Given the description of an element on the screen output the (x, y) to click on. 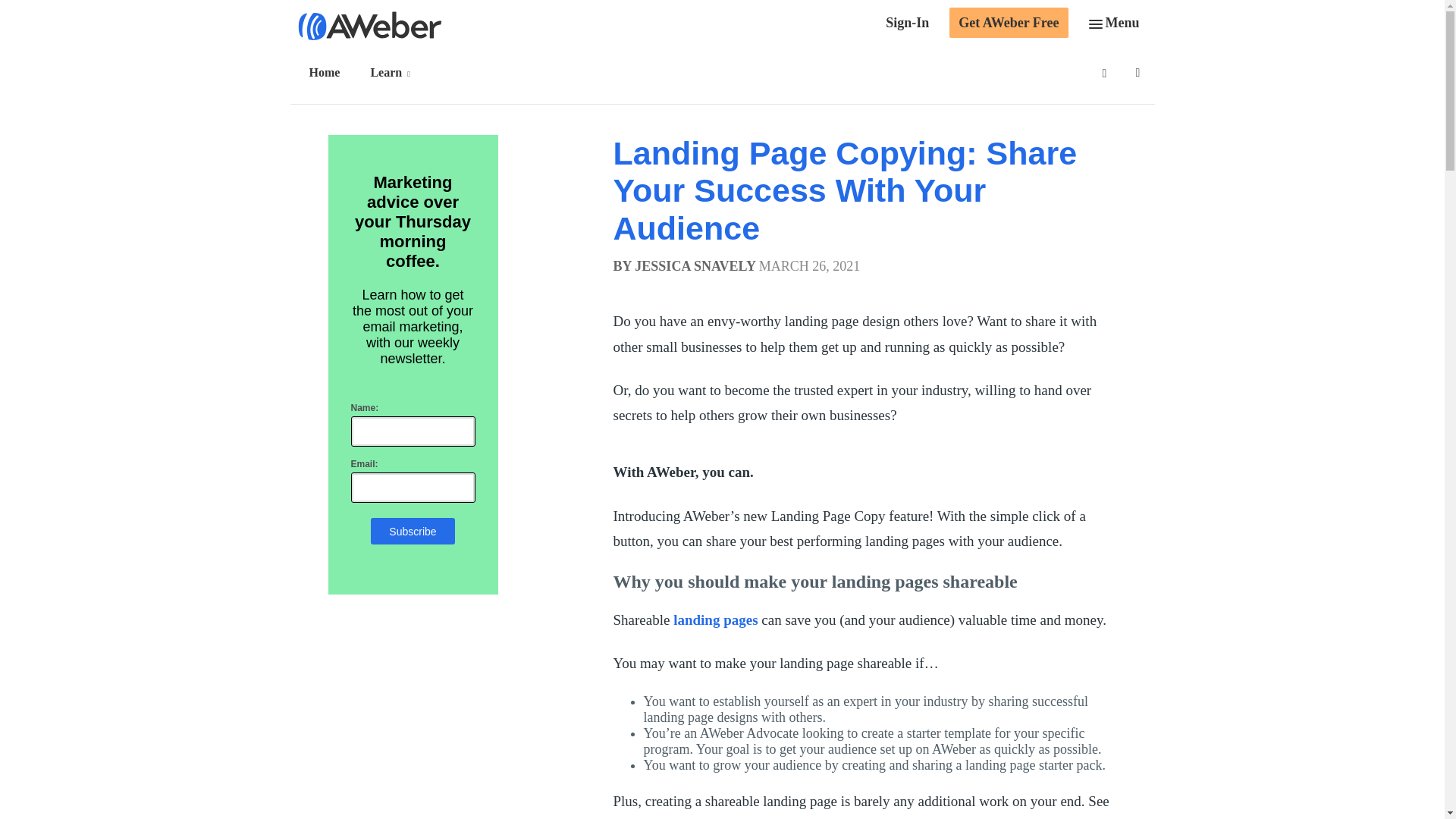
Subscribe (412, 530)
Get AWeber Free (1008, 22)
Sign-In (906, 24)
Search (37, 15)
Home (327, 72)
Subscribe (412, 530)
Posts by Jessica Snavely (694, 265)
